Given the description of an element on the screen output the (x, y) to click on. 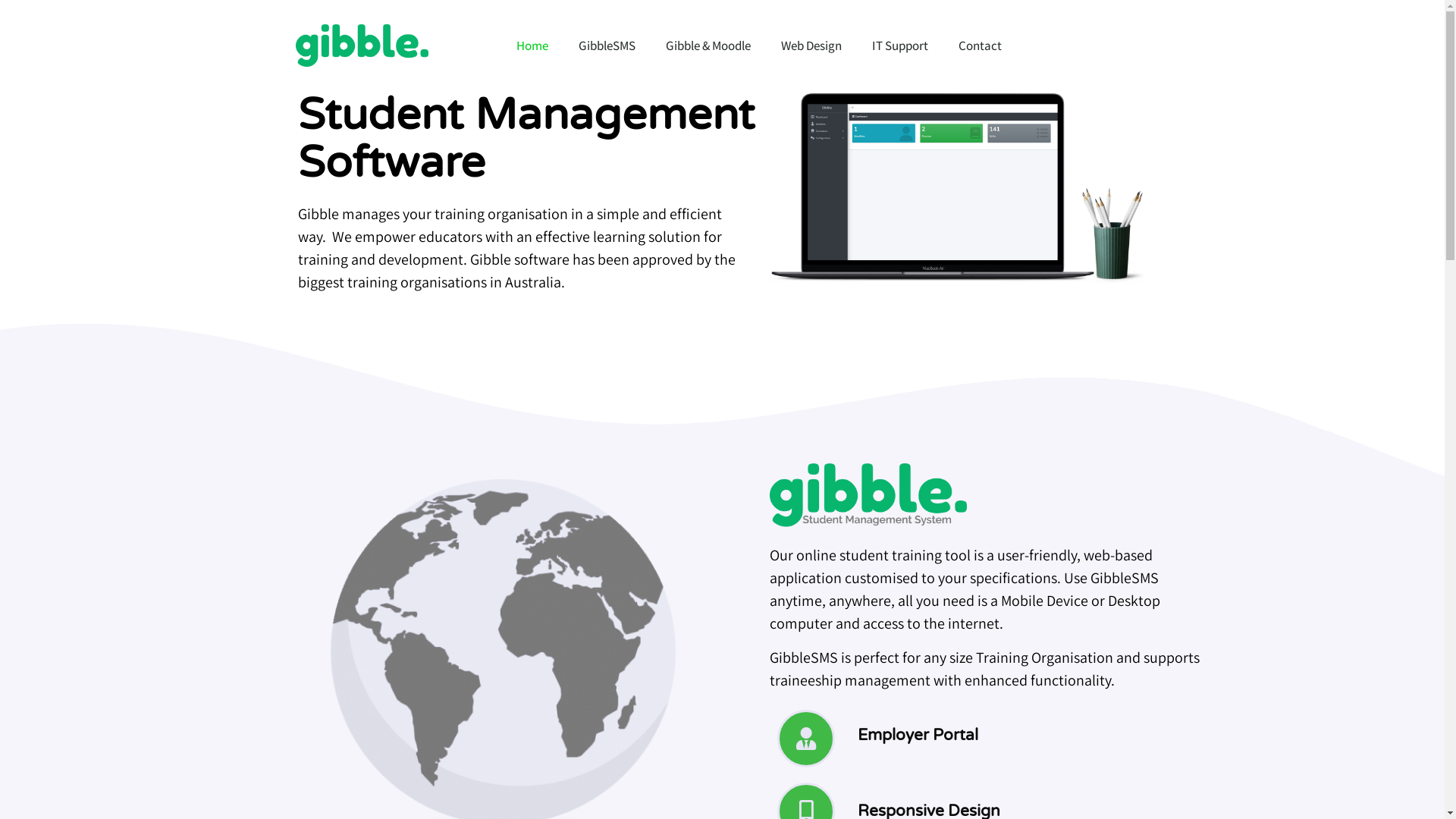
IT Support Element type: text (899, 45)
Home Element type: text (532, 45)
Contact Element type: text (979, 45)
Web Design Element type: text (810, 45)
GibbleSMS Element type: text (606, 45)
Gibble & Moodle Element type: text (707, 45)
